Given the description of an element on the screen output the (x, y) to click on. 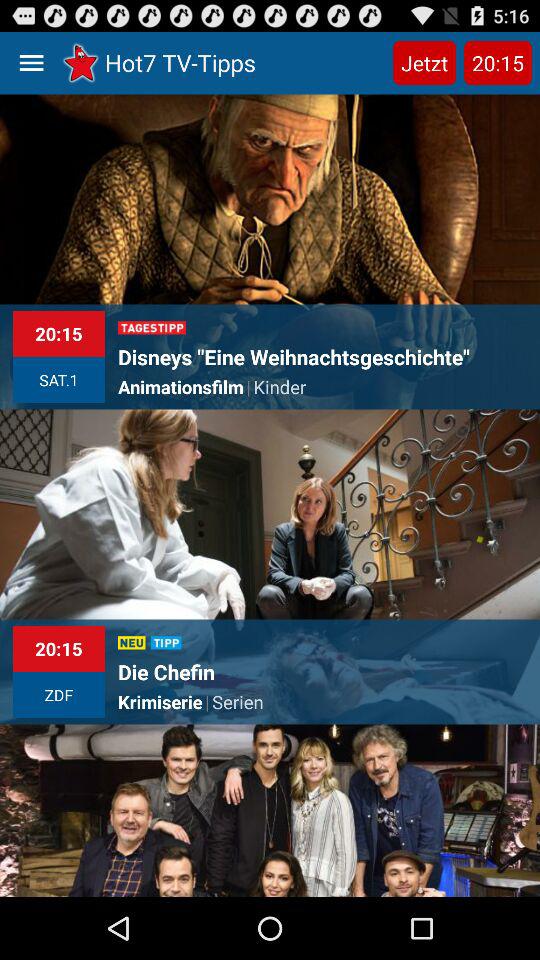
launch jetzt button (424, 62)
